Given the description of an element on the screen output the (x, y) to click on. 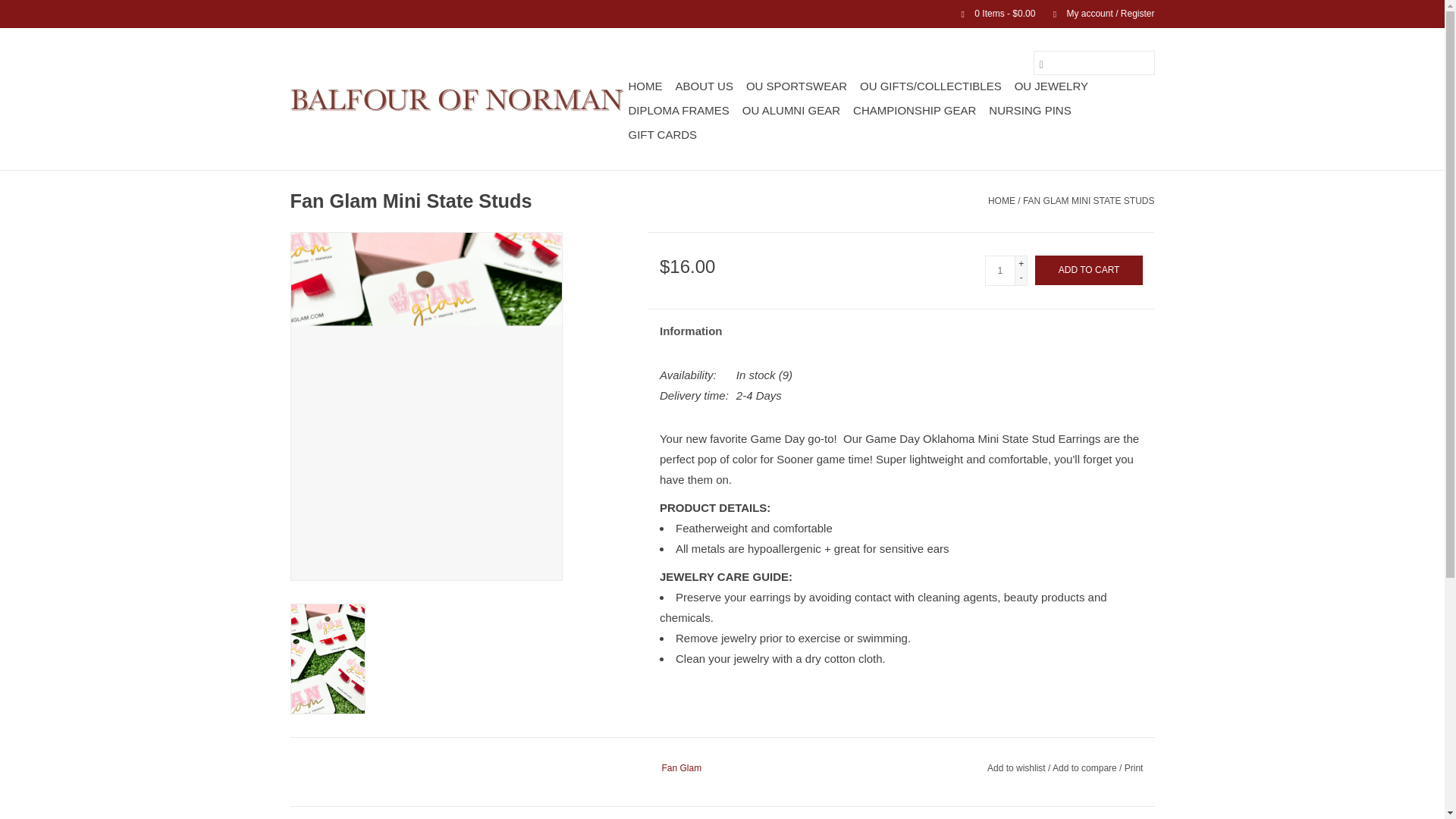
HOME (644, 86)
1 (999, 270)
Cart (992, 13)
Balfour of Norman (456, 98)
My account (1096, 13)
ABOUT US (702, 86)
About Us (702, 86)
OU SPORTSWEAR (796, 86)
OU Sportswear (796, 86)
